Given the description of an element on the screen output the (x, y) to click on. 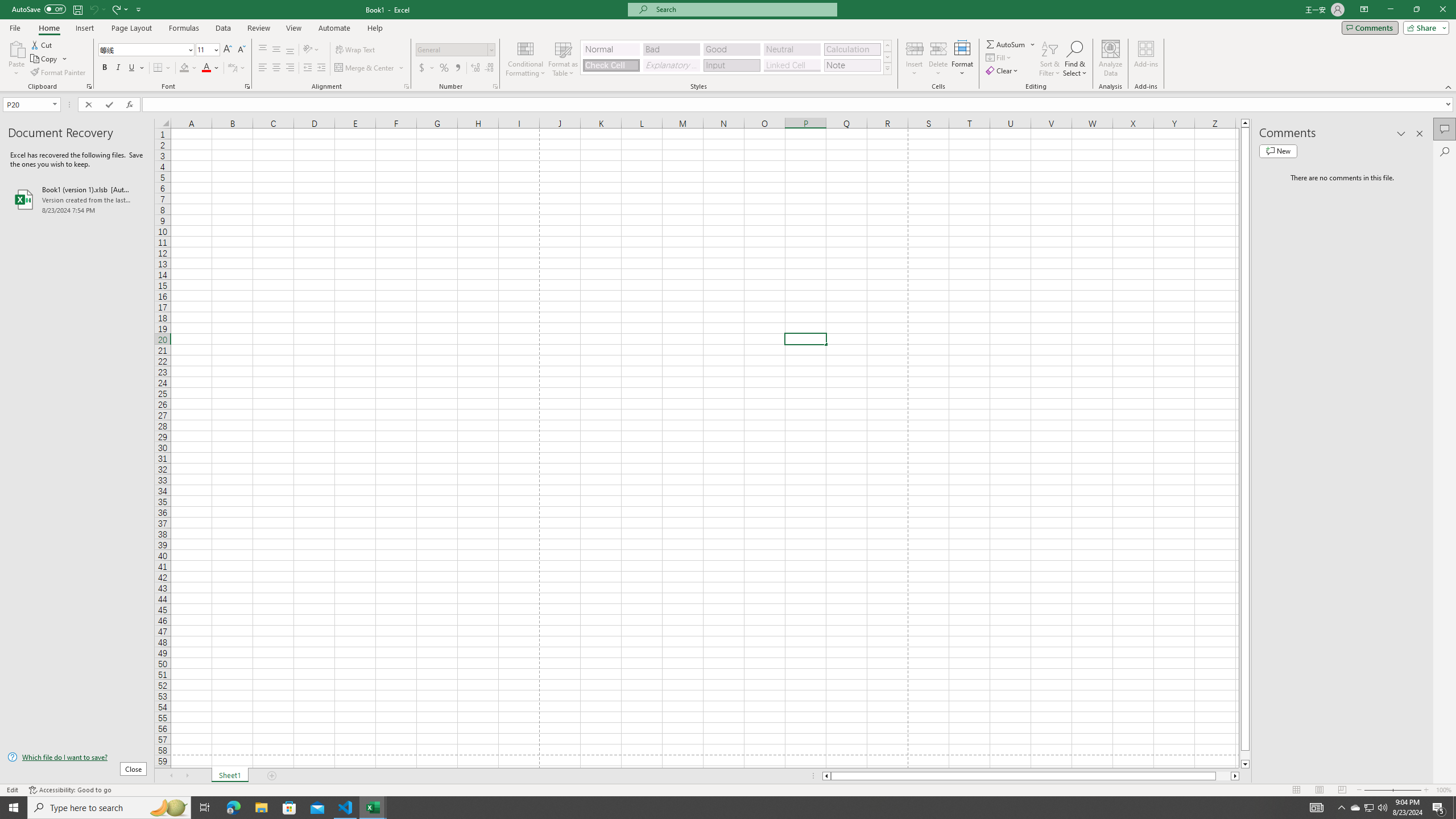
Class: MsoCommandBar (728, 45)
Middle Align (276, 49)
Fill (999, 56)
Increase Indent (320, 67)
Fill Color RGB(255, 255, 0) (183, 67)
Insert (914, 58)
Clear (1003, 69)
Save (77, 9)
Underline (136, 67)
Zoom (1392, 790)
Top Align (262, 49)
Line down (1245, 764)
